Given the description of an element on the screen output the (x, y) to click on. 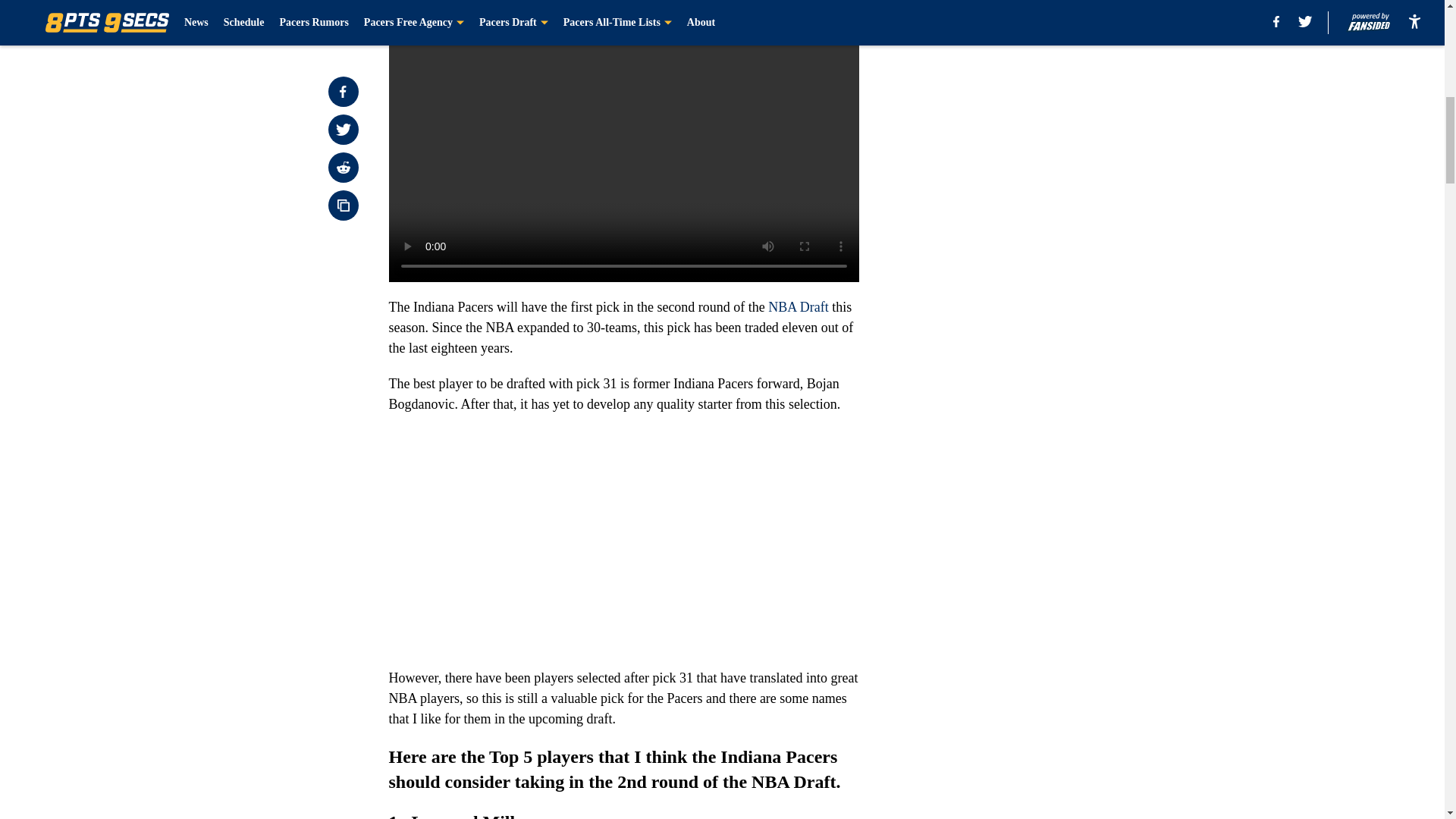
NBA Draft (798, 306)
3rd party ad content (1047, 332)
3rd party ad content (1047, 113)
